Given the description of an element on the screen output the (x, y) to click on. 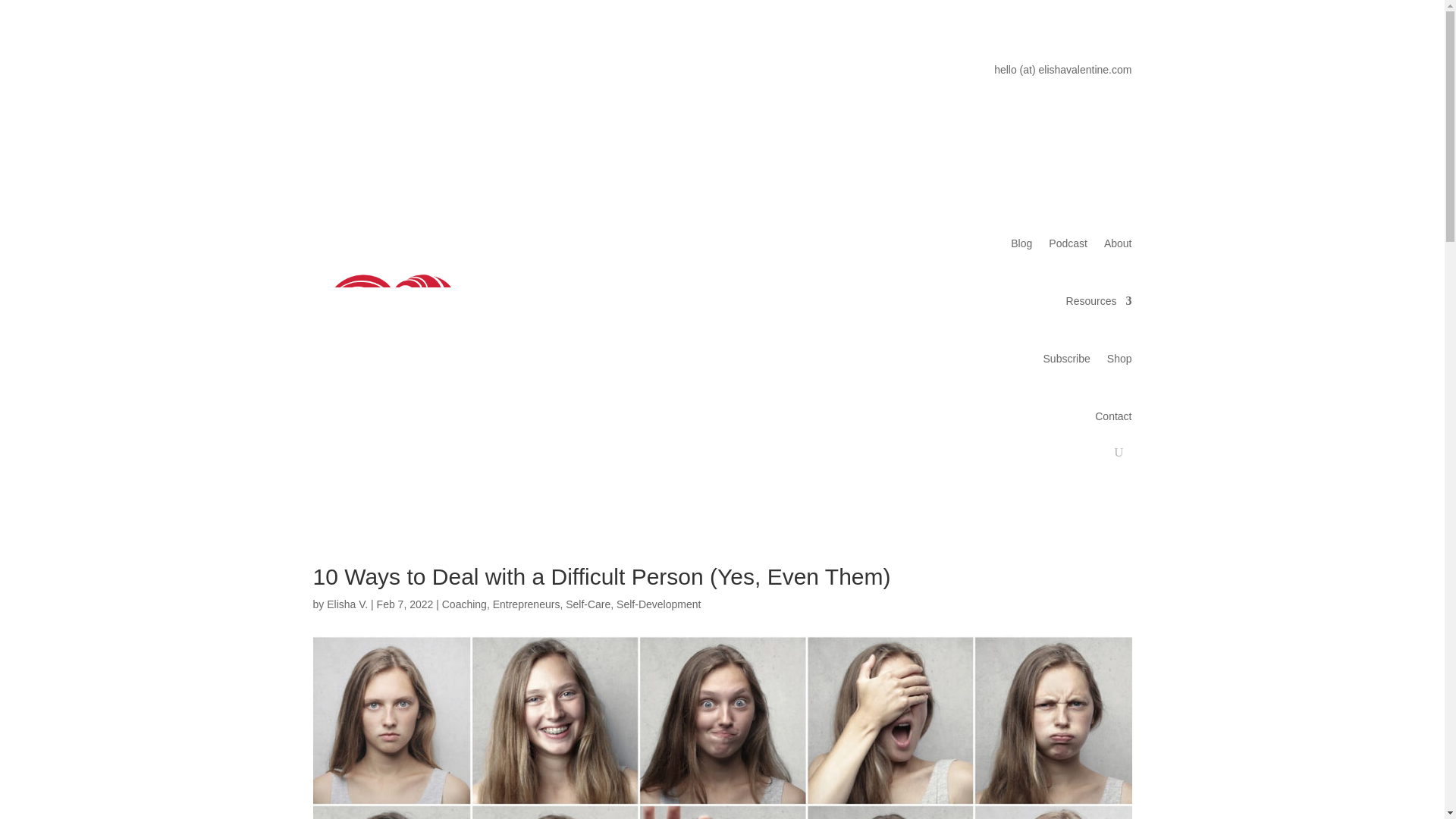
Shop (1119, 358)
Follow on X (415, 73)
Subscribe (1066, 358)
Elisha V. (347, 604)
Contact (1112, 416)
About (1117, 242)
Blog (1021, 242)
Self-Development (657, 604)
Entrepreneurs (526, 604)
Posts by Elisha V. (347, 604)
Podcast (1067, 242)
Coaching (464, 604)
Follow on Instagram (354, 73)
Self-Care (588, 604)
Follow on LinkedIn (384, 73)
